Given the description of an element on the screen output the (x, y) to click on. 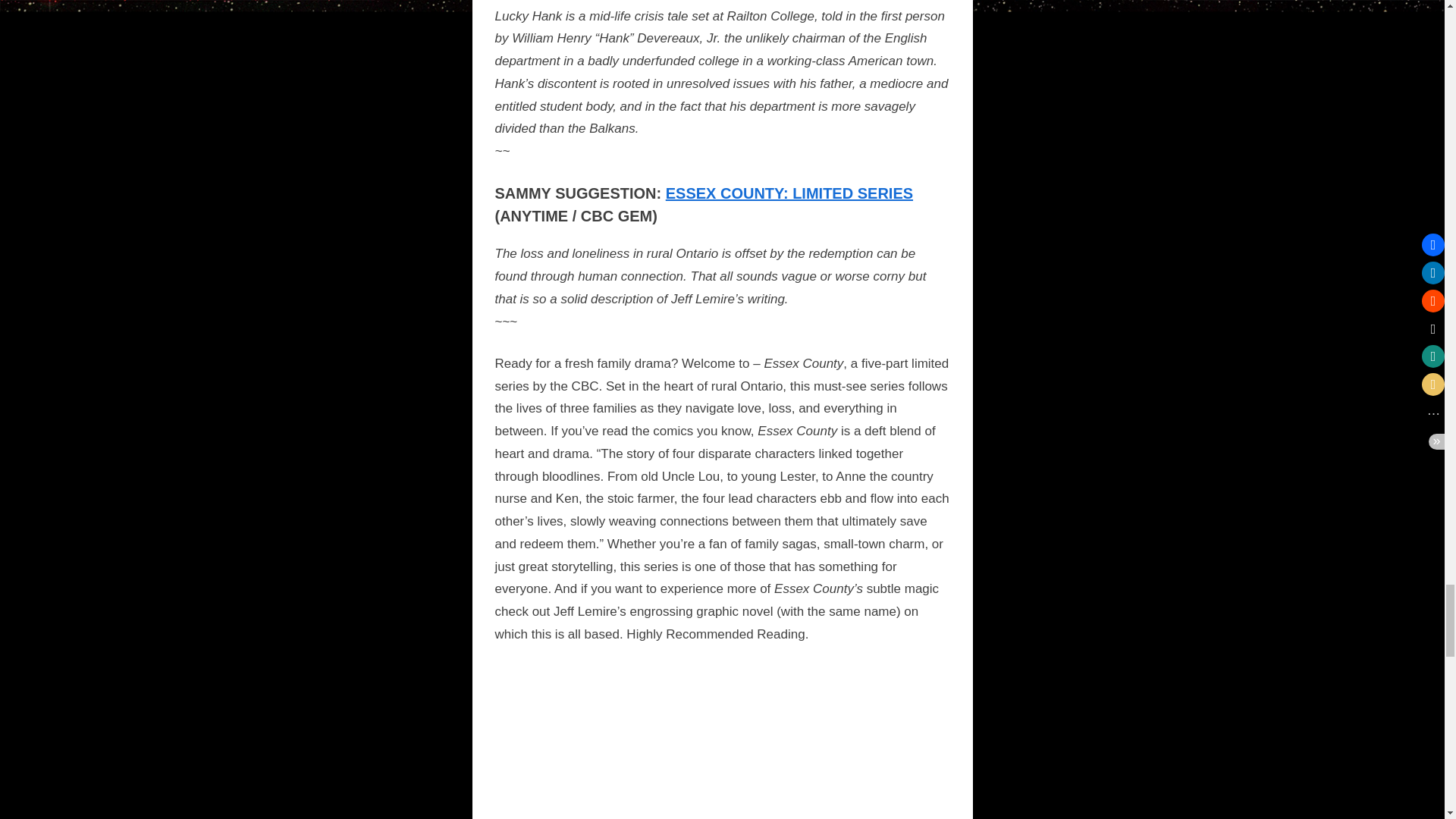
Essex County - Official trailer (722, 742)
ESSEX COUNTY: LIMITED SERIES (788, 193)
